Given the description of an element on the screen output the (x, y) to click on. 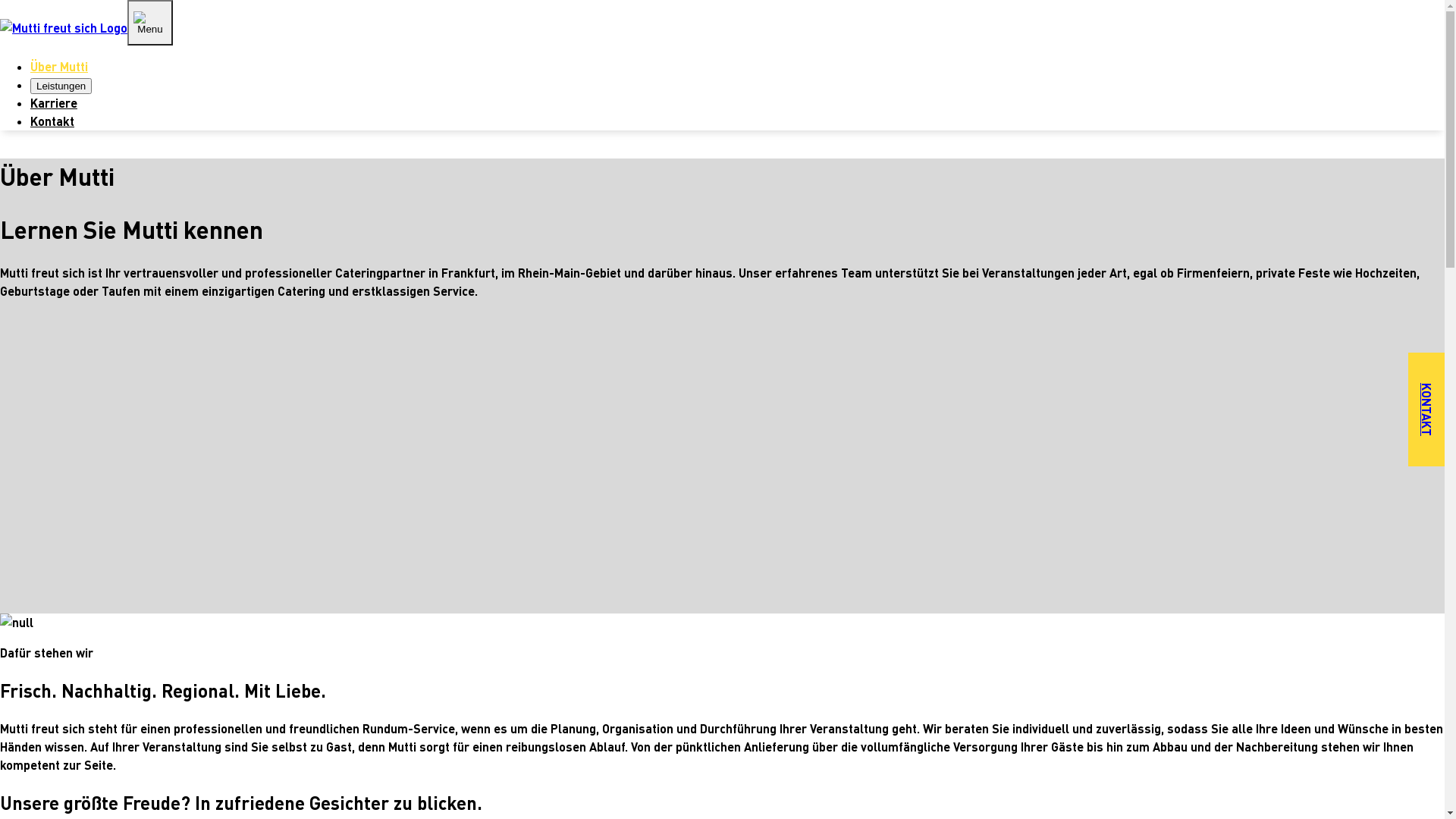
Leistungen Element type: text (60, 86)
Karriere Element type: text (53, 102)
Kontakt Element type: text (52, 120)
